Given the description of an element on the screen output the (x, y) to click on. 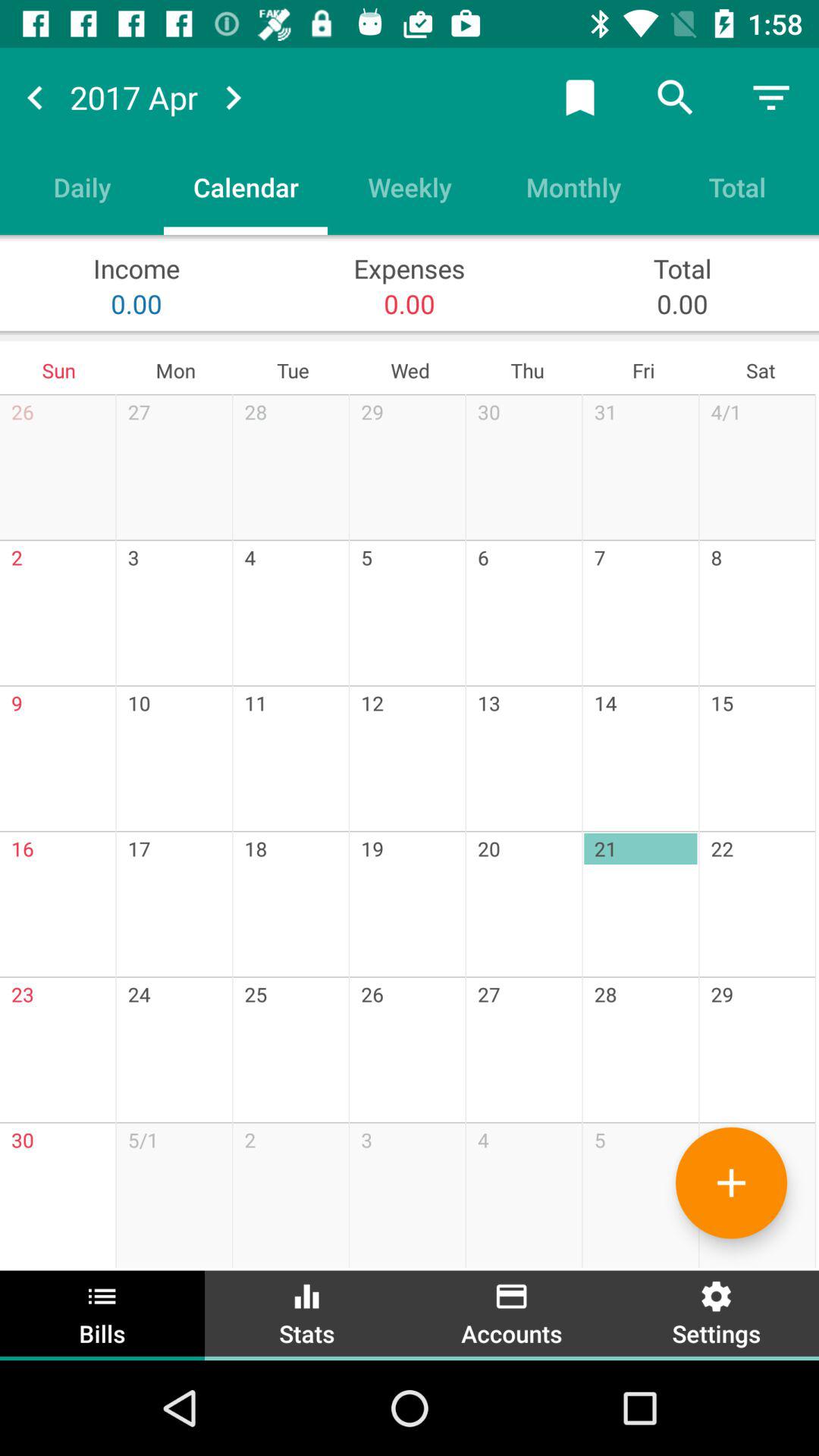
press item next to calendar icon (409, 186)
